Given the description of an element on the screen output the (x, y) to click on. 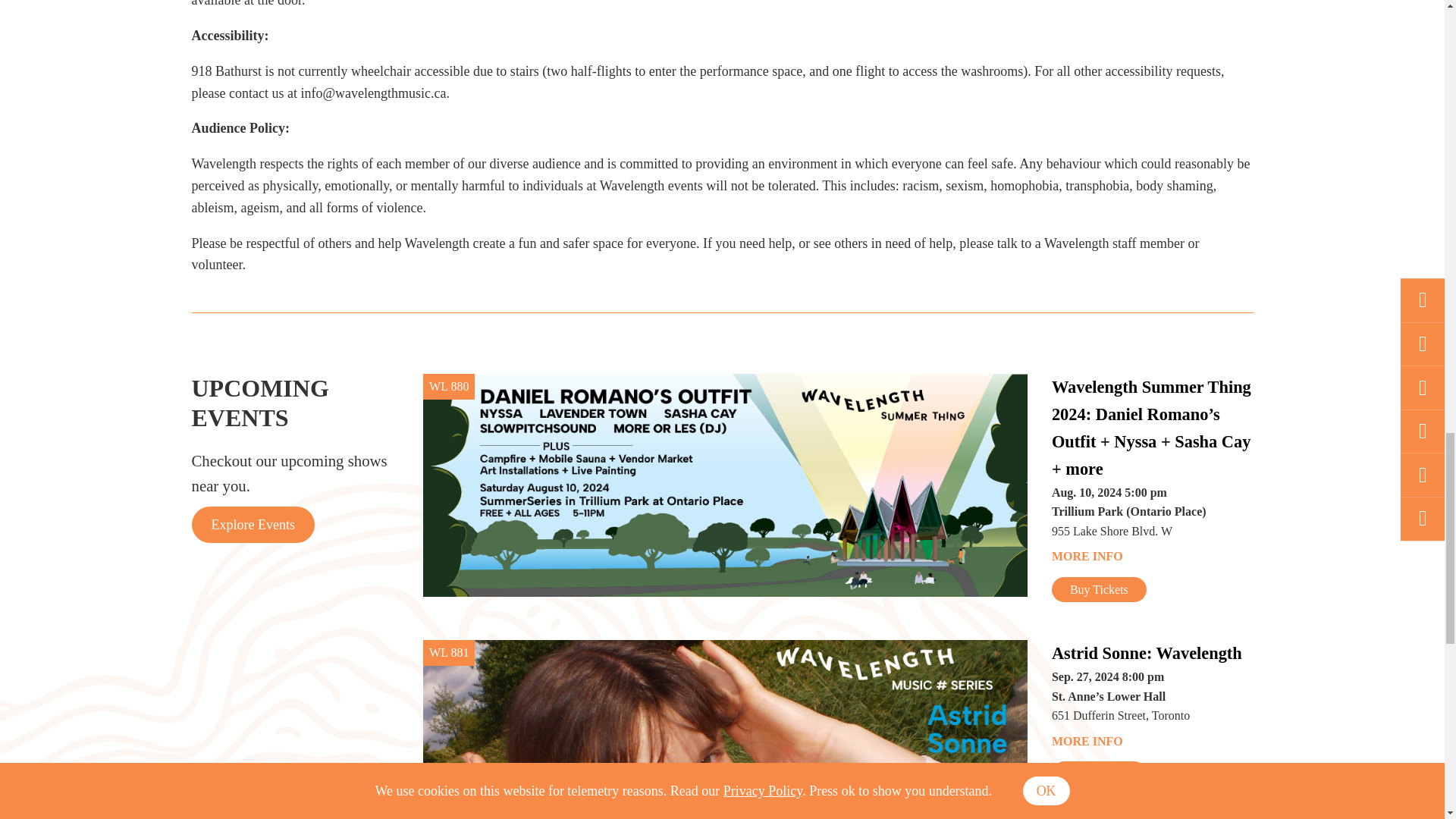
View Astrid Sonne: Wavelength (1152, 653)
View Astrid Sonne: Wavelength (725, 729)
Upcoming Events (252, 524)
View Astrid Sonne: Wavelength (1152, 741)
